Given the description of an element on the screen output the (x, y) to click on. 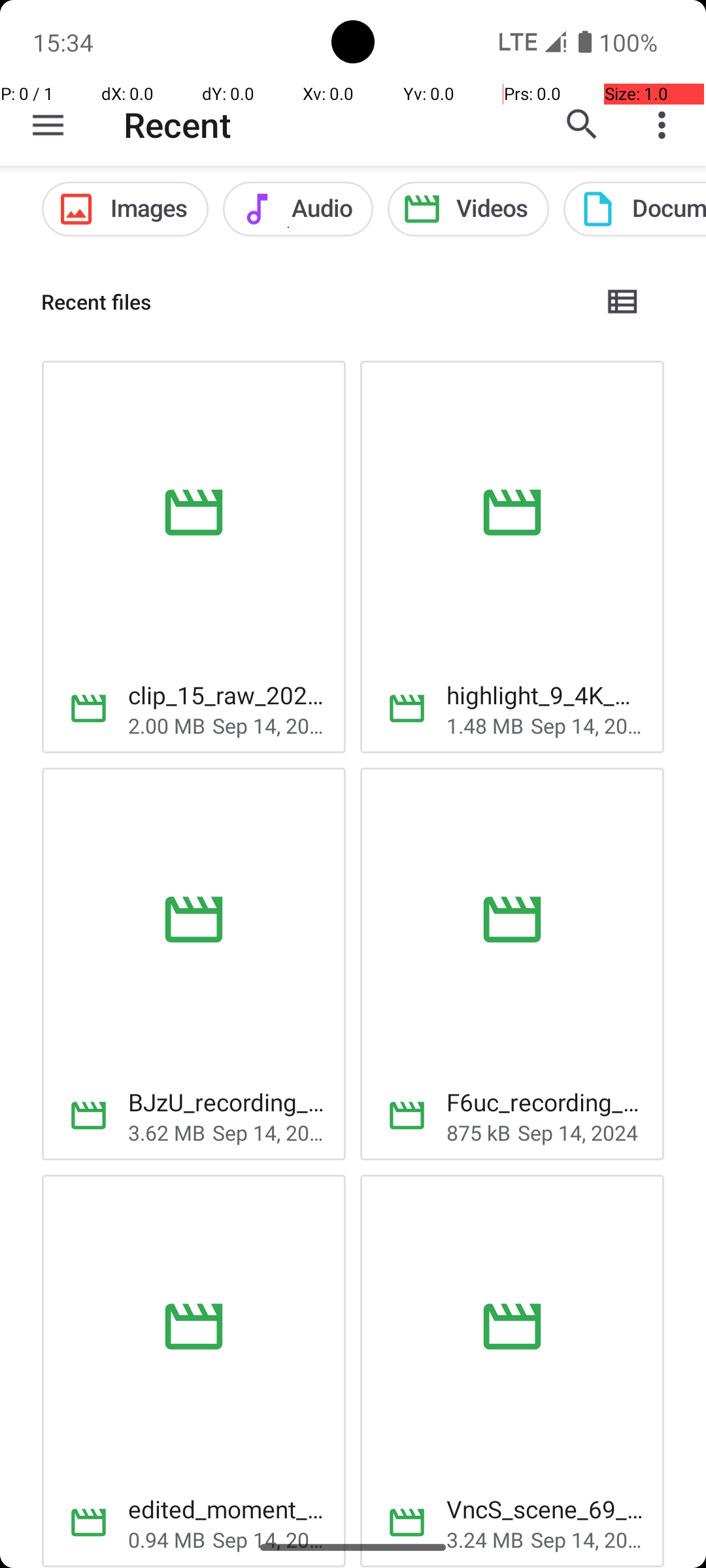
clip_15_raw_2023_05_29.mp4 Element type: android.widget.TextView (226, 694)
2.00 MB Element type: android.widget.TextView (166, 725)
Sep 14, 2024 Element type: android.widget.TextView (268, 725)
highlight_9_4K_UsMM.mp4 Element type: android.widget.TextView (544, 694)
1.48 MB Element type: android.widget.TextView (484, 725)
BJzU_recording_19_4K.mp4 Element type: android.widget.TextView (226, 1101)
3.62 MB Element type: android.widget.TextView (166, 1132)
F6uc_recording_24_HD.mp4 Element type: android.widget.TextView (544, 1101)
875 kB Element type: android.widget.TextView (478, 1132)
edited_moment_99_export.mp4 Element type: android.widget.TextView (226, 1508)
0.94 MB Element type: android.widget.TextView (166, 1539)
VncS_scene_69_.mp4 Element type: android.widget.TextView (544, 1508)
3.24 MB Element type: android.widget.TextView (484, 1539)
